Given the description of an element on the screen output the (x, y) to click on. 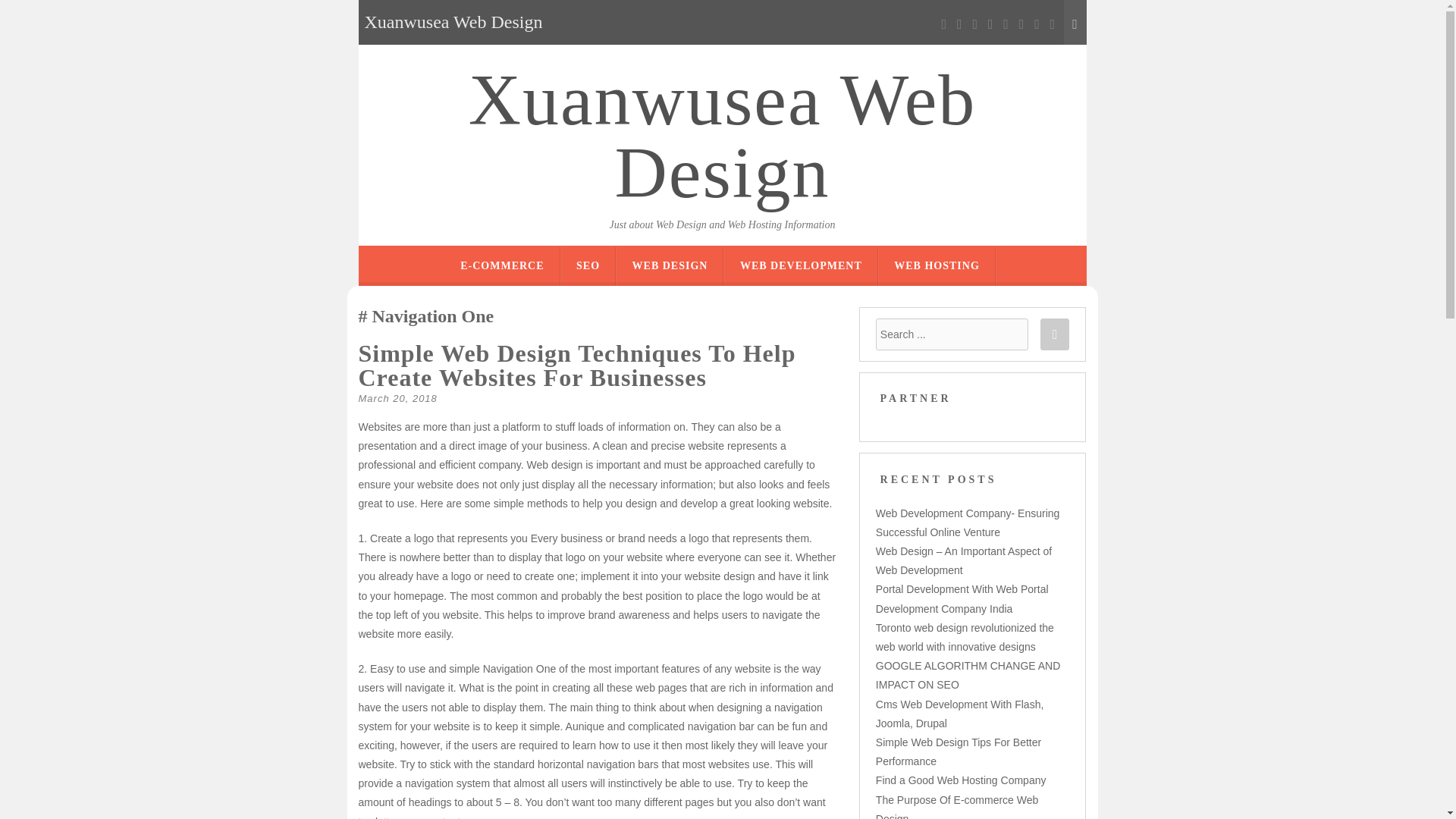
WEB DEVELOPMENT (800, 265)
E-COMMERCE (501, 265)
WEB DESIGN (669, 265)
The Purpose Of E-commerce Web Design (957, 806)
Portal Development With Web Portal Development Company India (962, 598)
Simple Web Design Tips For Better Performance (958, 751)
GOOGLE ALGORITHM CHANGE AND IMPACT ON SEO (968, 675)
March 20, 2018 (397, 398)
Find a Good Web Hosting Company (961, 779)
SKIP TO CONTENT (775, 255)
Xuanwusea Web Design (722, 136)
WEB HOSTING (936, 265)
Web Development Company- Ensuring Successful Online Venture (967, 522)
